Given the description of an element on the screen output the (x, y) to click on. 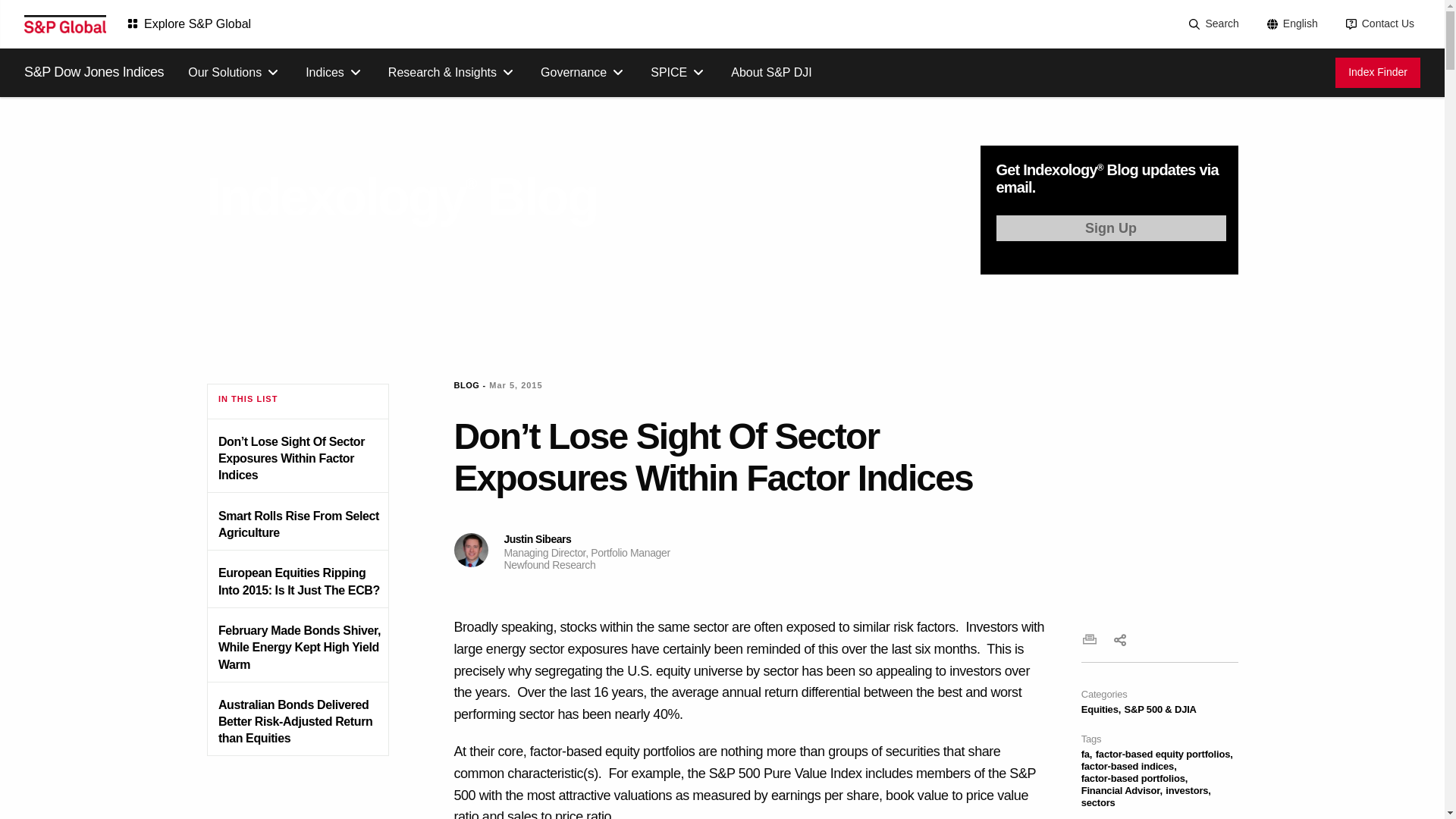
Contact Us (1378, 24)
Search (1211, 24)
View all posts in Equities (1101, 708)
English (1290, 24)
Justin Sibears (469, 550)
